Given the description of an element on the screen output the (x, y) to click on. 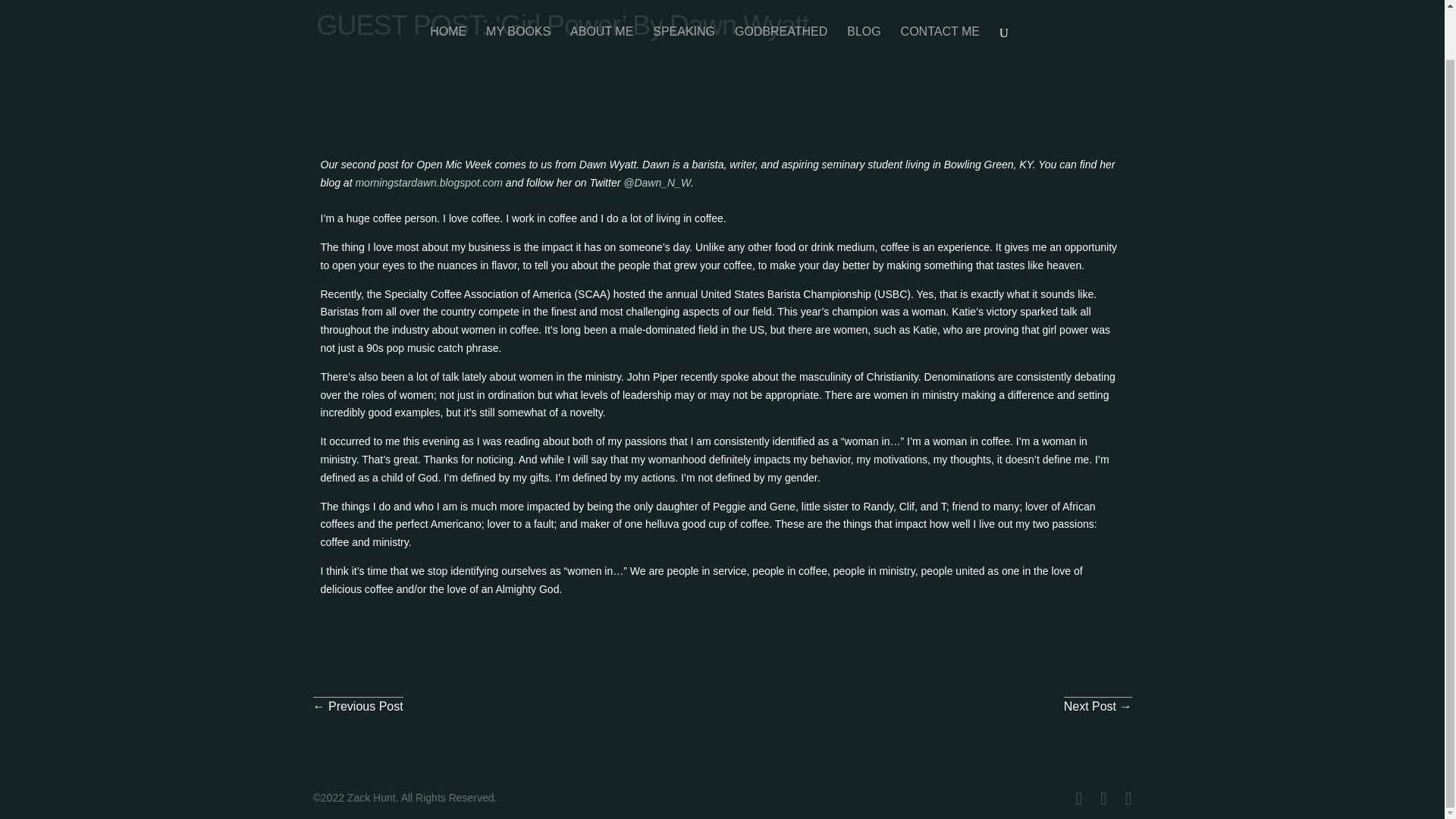
ABOUT ME (601, 5)
MY BOOKS (518, 5)
BLOG (863, 5)
HOME (447, 5)
GODBREATHED (781, 5)
SPEAKING (683, 5)
morningstardawn.blogspot.com (428, 182)
CONTACT ME (940, 5)
